Given the description of an element on the screen output the (x, y) to click on. 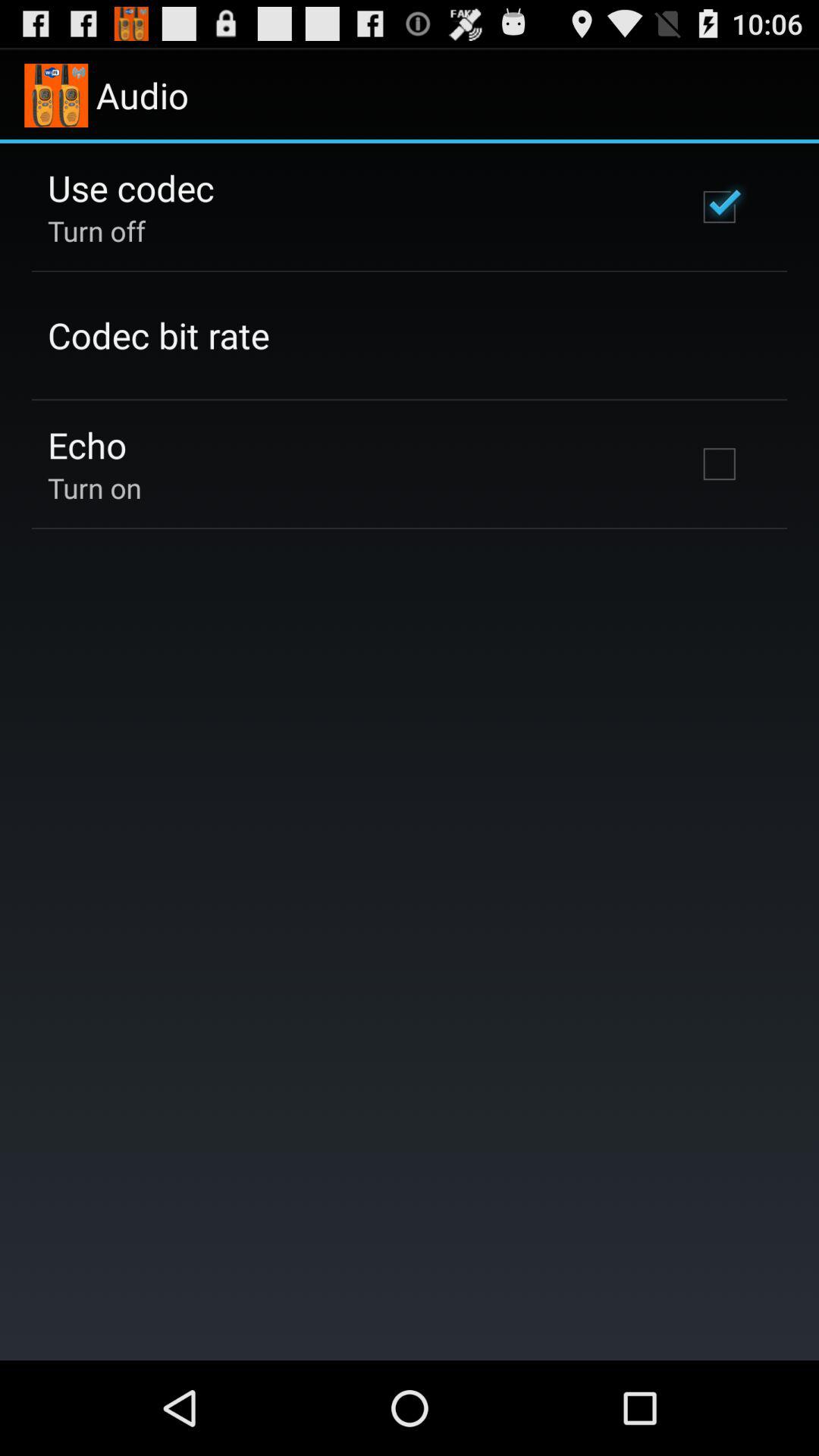
turn on the item above echo (158, 335)
